Given the description of an element on the screen output the (x, y) to click on. 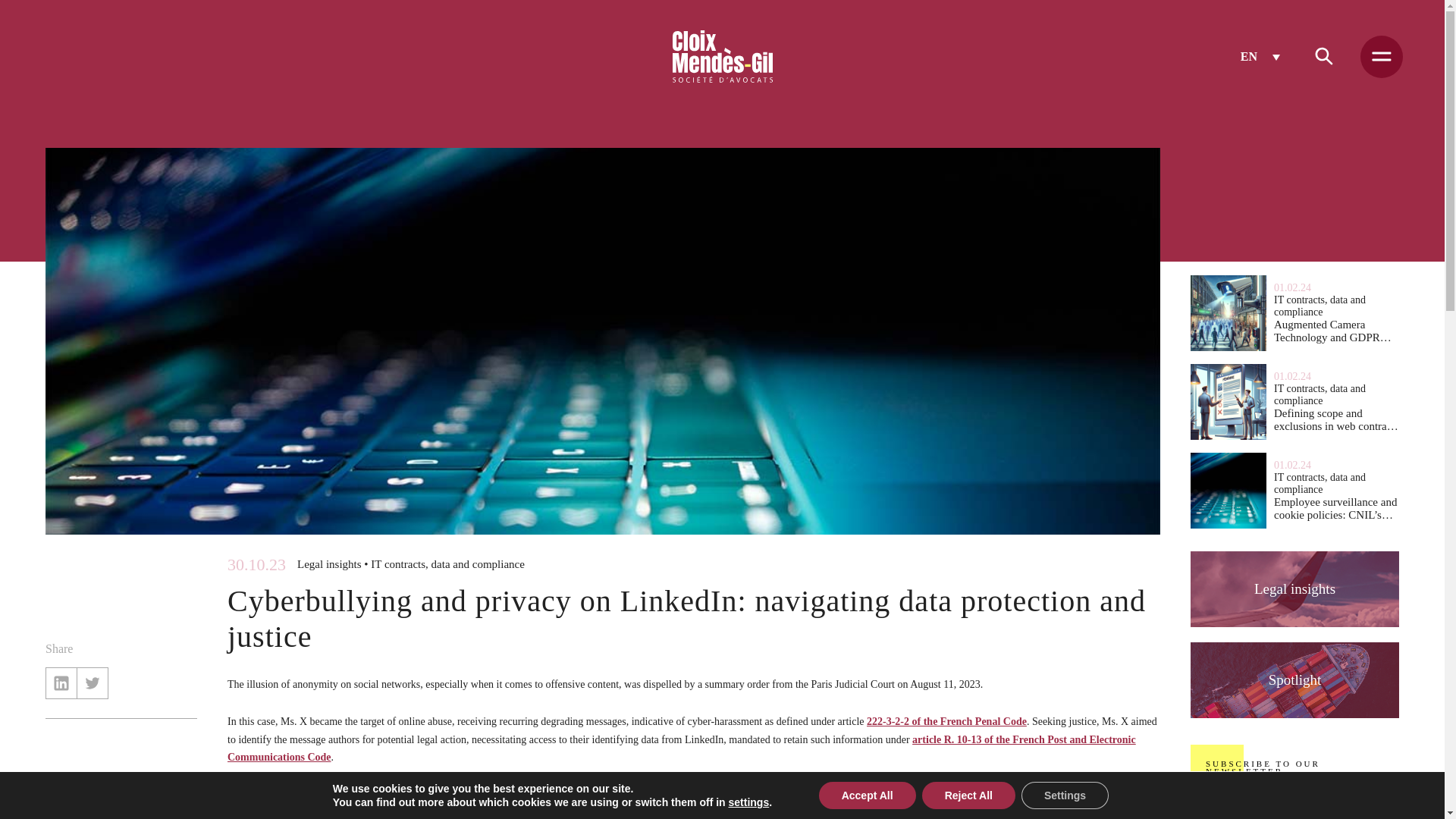
Legal insights (1295, 589)
222-3-2-2 of the French Penal Code (946, 721)
SUBSCRIBE TO OUR NEWSLETTER (1295, 767)
Spotlight (1295, 680)
EN (1260, 56)
